Given the description of an element on the screen output the (x, y) to click on. 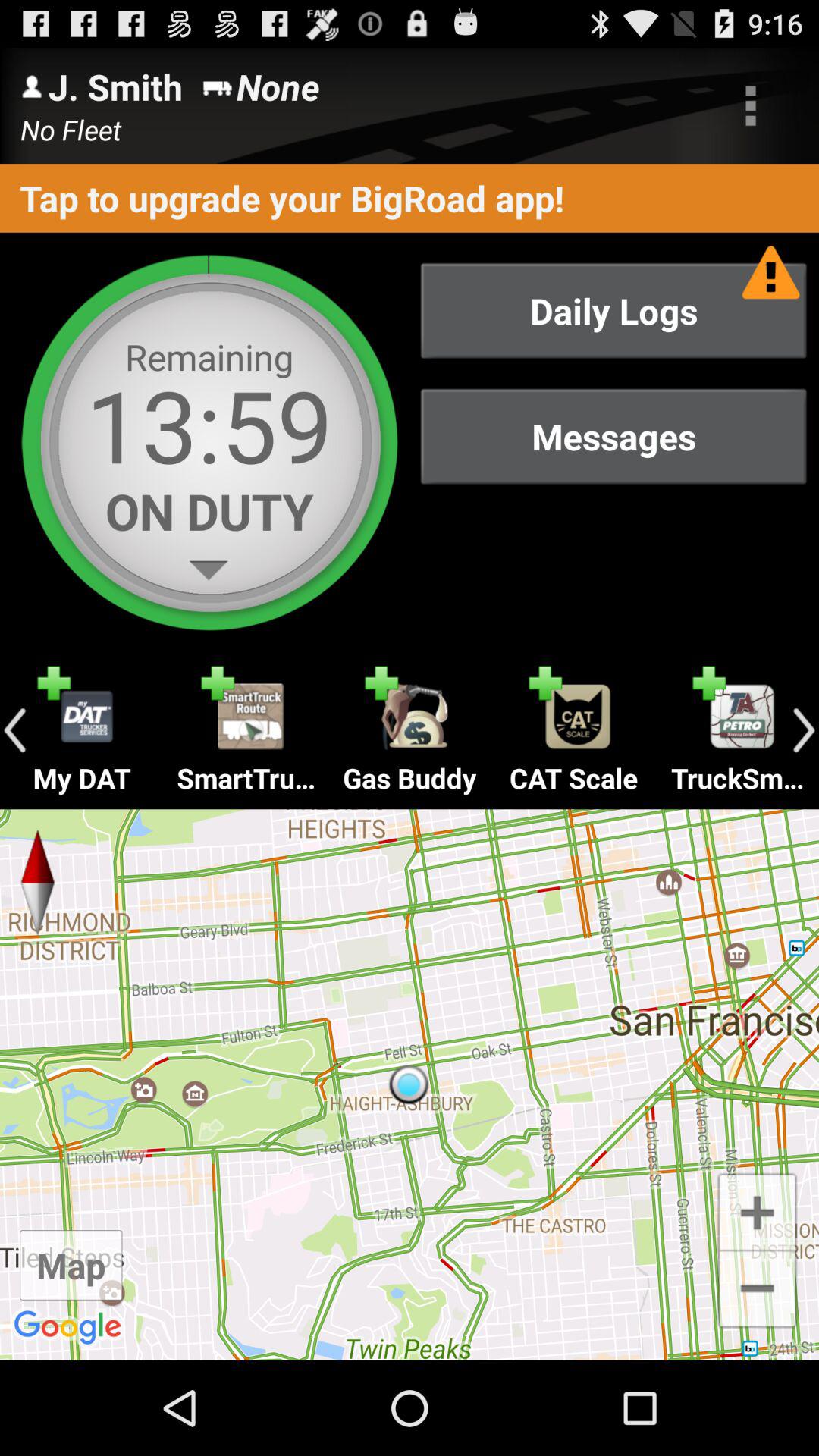
scroll until messages icon (613, 436)
